Given the description of an element on the screen output the (x, y) to click on. 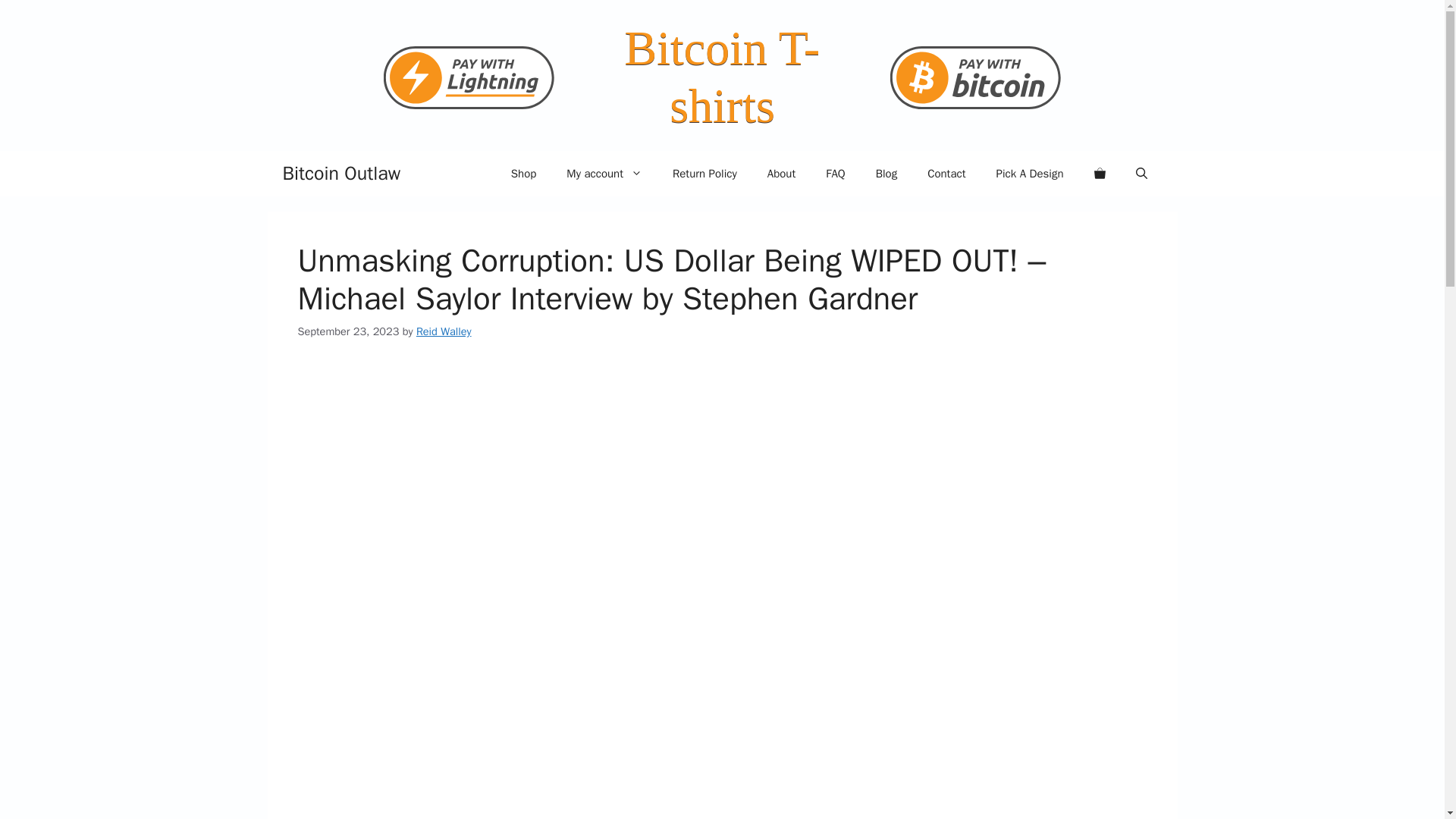
Bitcoin T-shirts (722, 77)
My account (604, 173)
Bitcoin Outlaw (341, 173)
Shop (523, 173)
View all posts by Reid Walley (443, 331)
Return Policy (705, 173)
View your shopping cart (1098, 173)
FAQ (835, 173)
Pick A Design (1028, 173)
